Given the description of an element on the screen output the (x, y) to click on. 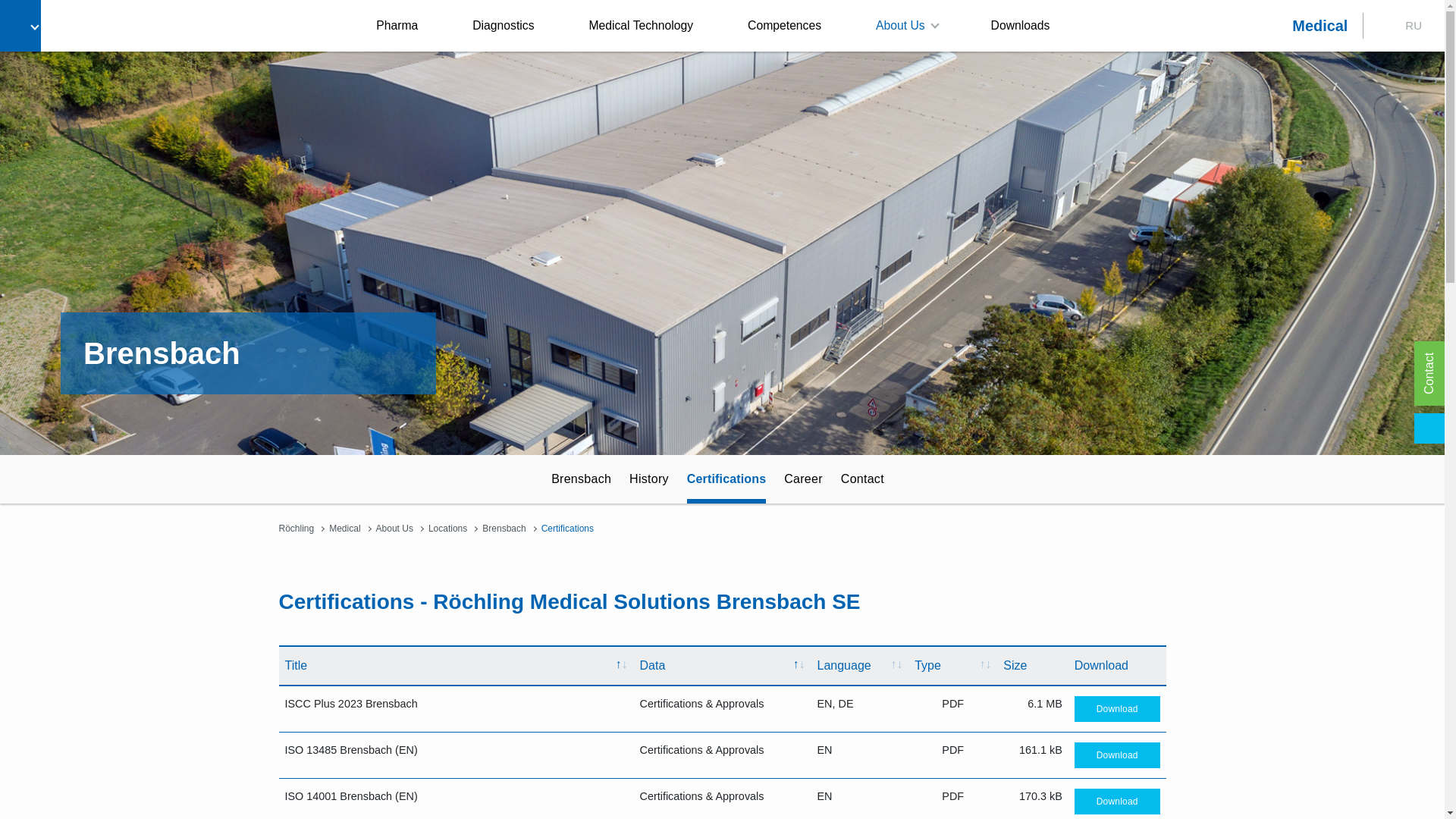
Downloads (1020, 25)
History (649, 479)
About Us (394, 528)
Contact (862, 479)
Medical Technology (640, 25)
Download (1117, 708)
Download (1117, 801)
Competences (784, 25)
Competences (784, 25)
Downloads (1020, 25)
Locations (447, 528)
Medical (1320, 25)
Medical Technology (640, 25)
RU (1413, 24)
Diagnostics (502, 25)
